Given the description of an element on the screen output the (x, y) to click on. 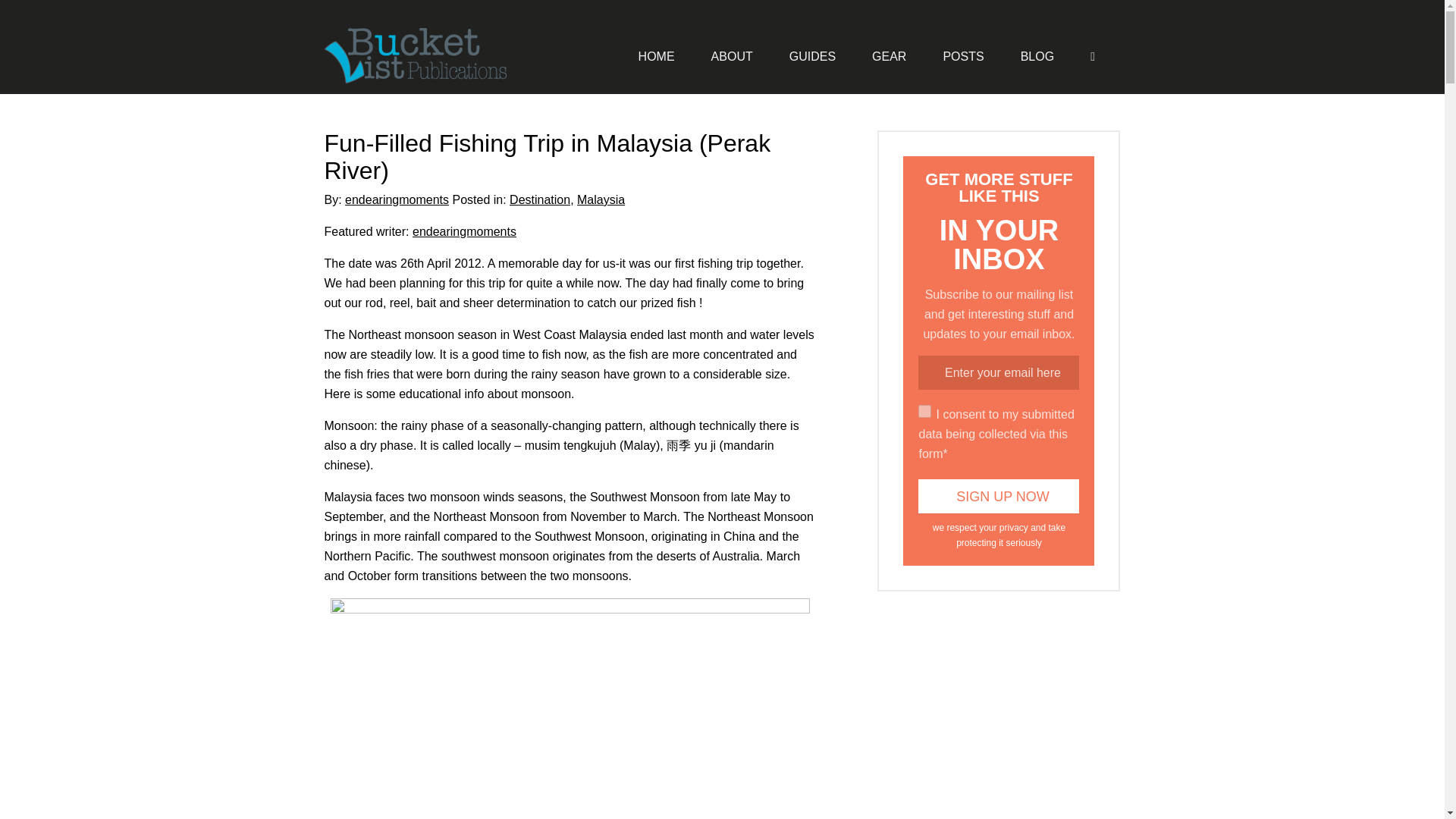
Sign Up Now (998, 496)
ABOUT (731, 56)
Bucket List Publications (430, 56)
HOME (656, 56)
GEAR (889, 56)
on (924, 410)
POSTS (962, 56)
GUIDES (812, 56)
Posts by endearingmoments (396, 199)
